Given the description of an element on the screen output the (x, y) to click on. 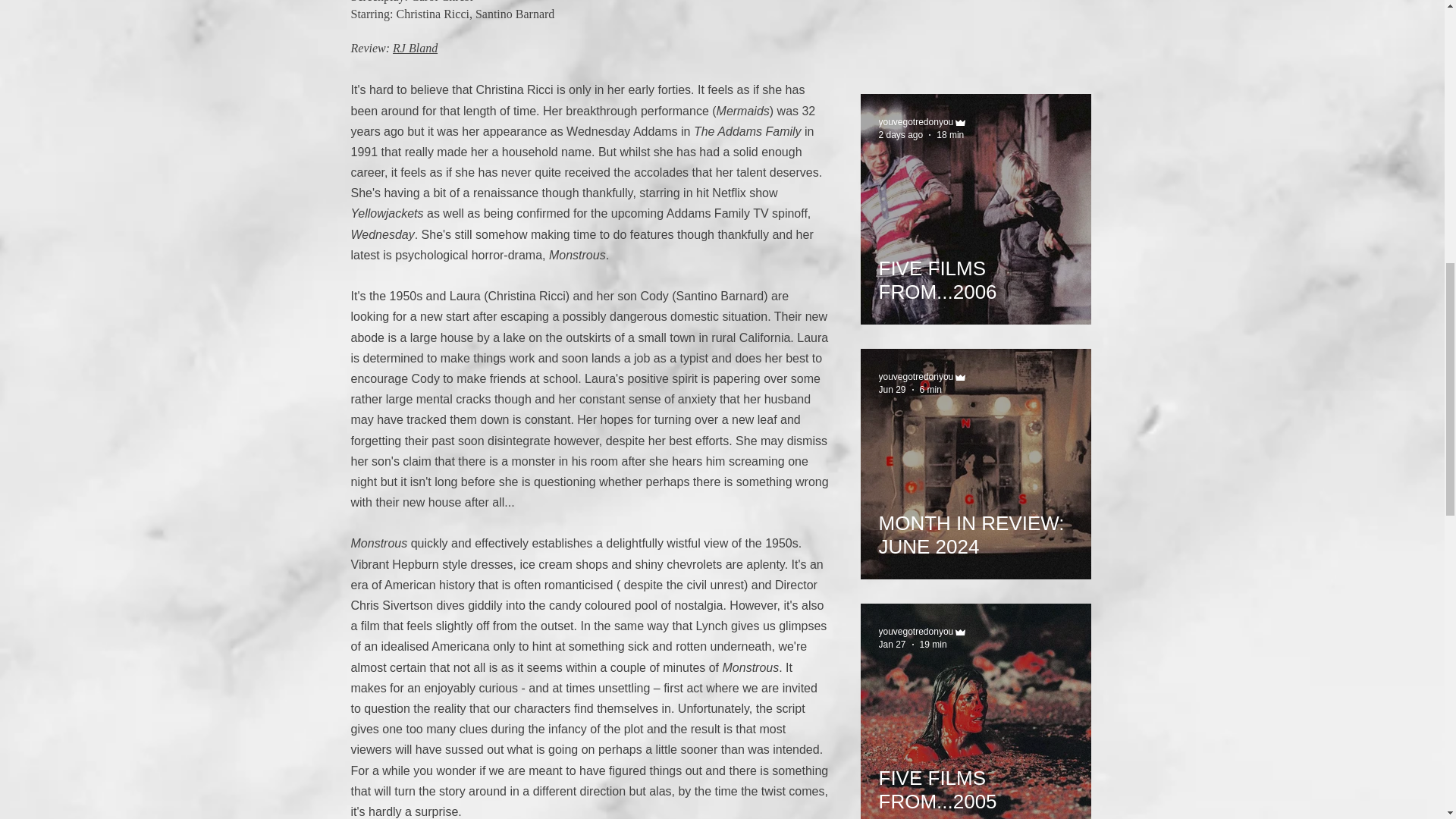
FIVE FILMS FROM...2005 (974, 783)
Carol Chrest (440, 1)
19 min (933, 644)
FIVE FILMS FROM...2006 (974, 273)
18 min (949, 134)
Jan 27 (891, 644)
Jun 29 (891, 389)
youvegotredonyou (915, 376)
youvegotredonyou (915, 631)
6 min (931, 389)
MONTH IN REVIEW: JUNE 2024 (974, 527)
youvegotredonyou (915, 122)
2 days ago (900, 134)
